Given the description of an element on the screen output the (x, y) to click on. 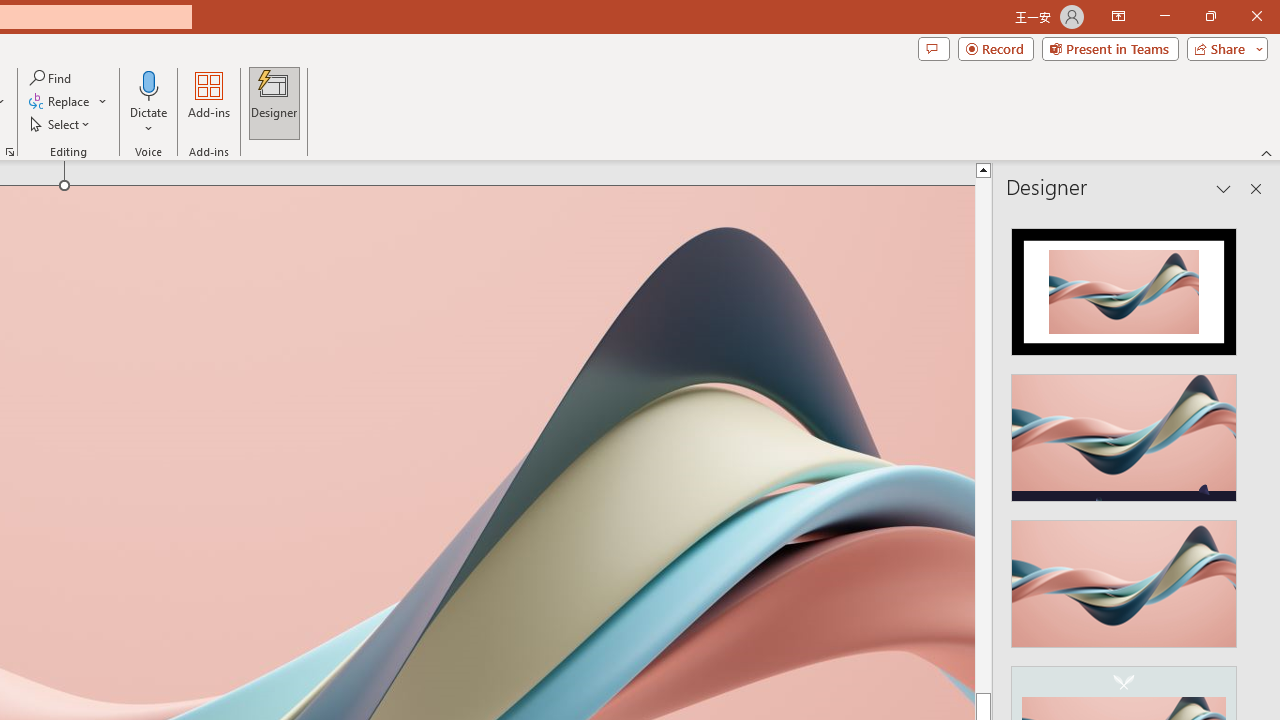
Recommended Design: Design Idea (1124, 286)
